Given the description of an element on the screen output the (x, y) to click on. 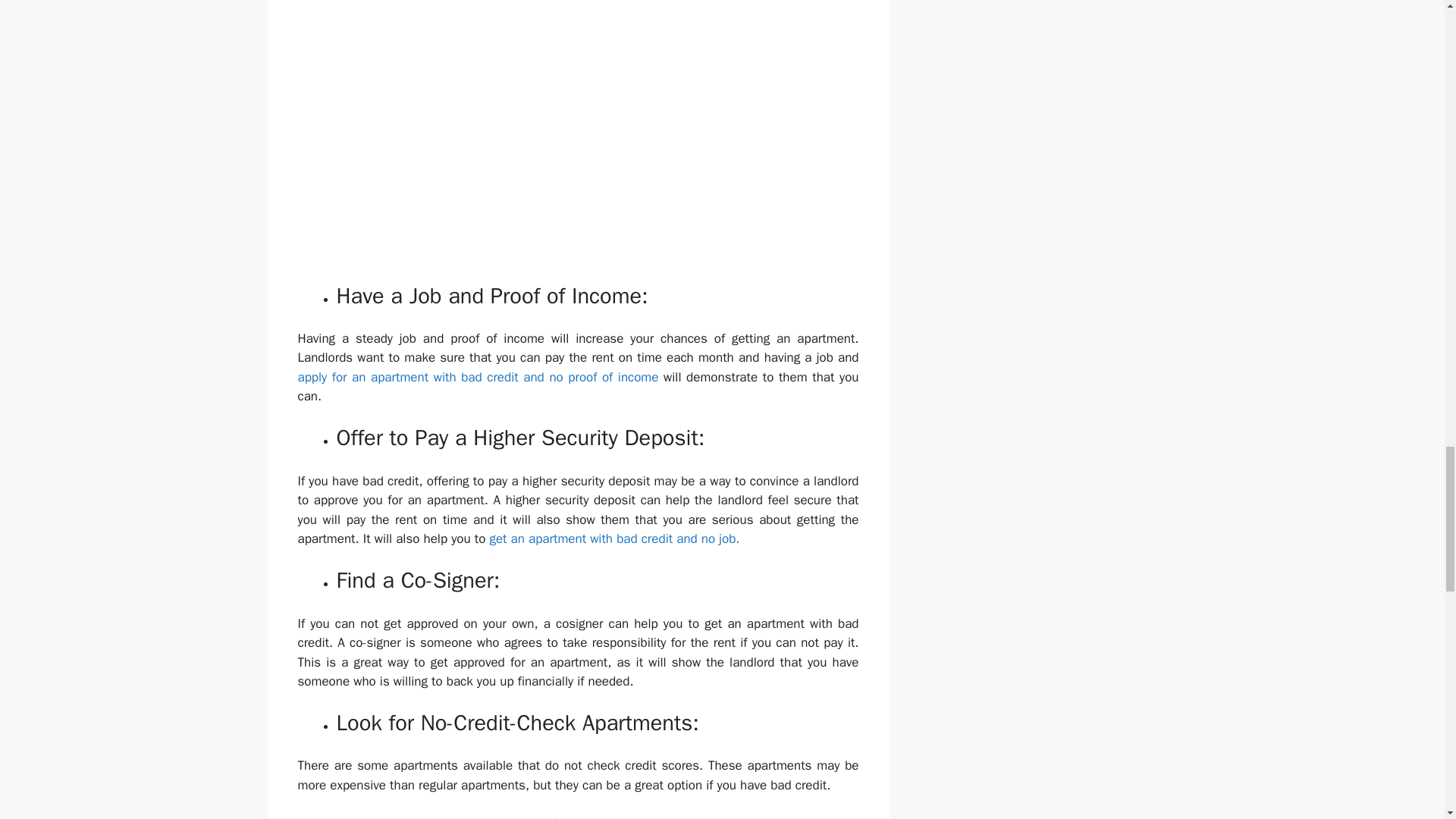
get an apartment with bad credit and no job. (614, 538)
